Given the description of an element on the screen output the (x, y) to click on. 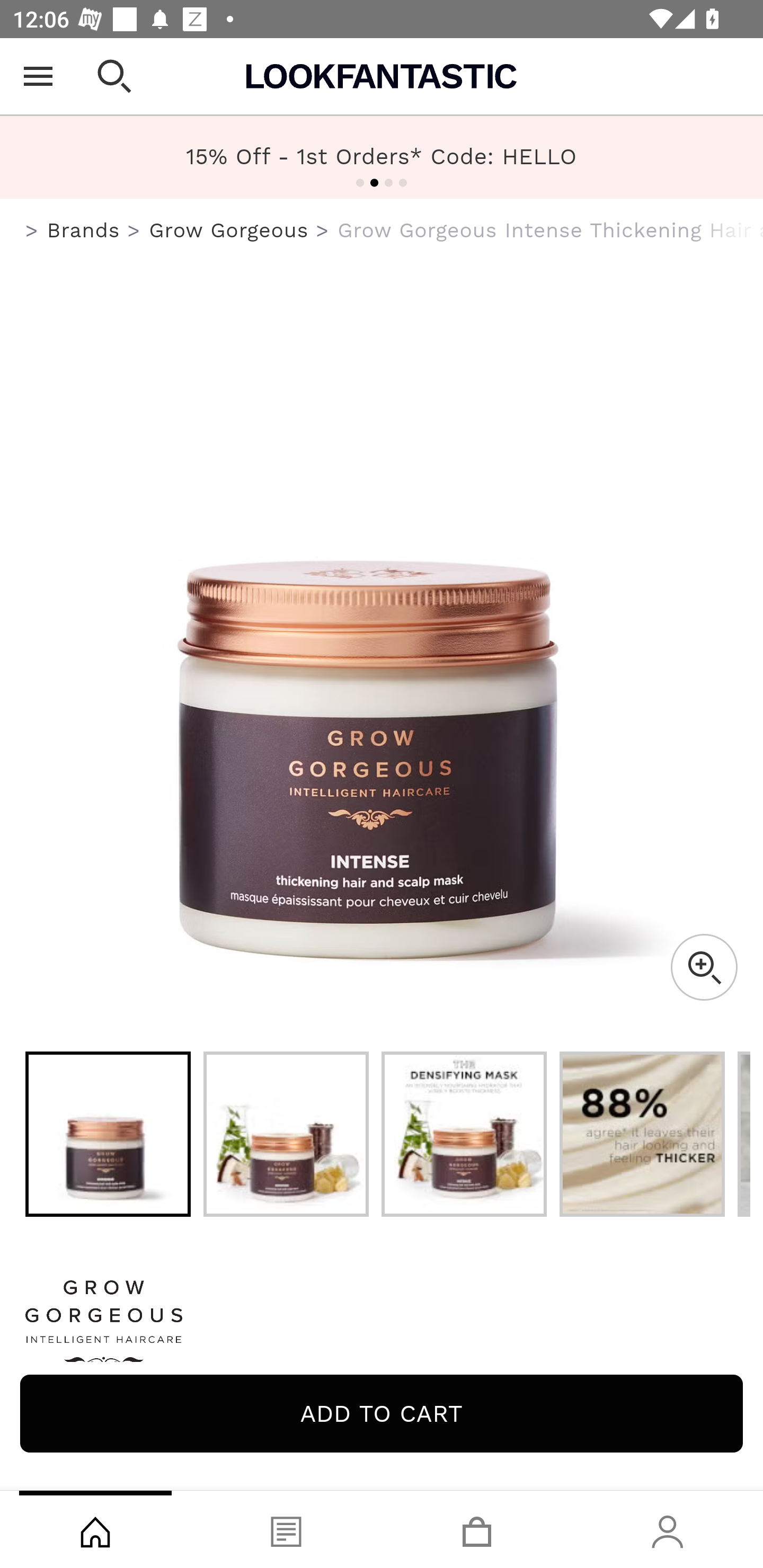
Open Menu (38, 75)
Open search (114, 75)
Lookfantastic USA (381, 75)
us.lookfantastic (32, 230)
Brands (82, 230)
Grow Gorgeous (228, 230)
Zoom (703, 966)
Grow Gorgeous (381, 1327)
Add to cart (381, 1413)
Shop, tab, 1 of 4 (95, 1529)
Blog, tab, 2 of 4 (285, 1529)
Basket, tab, 3 of 4 (476, 1529)
Account, tab, 4 of 4 (667, 1529)
